Given the description of an element on the screen output the (x, y) to click on. 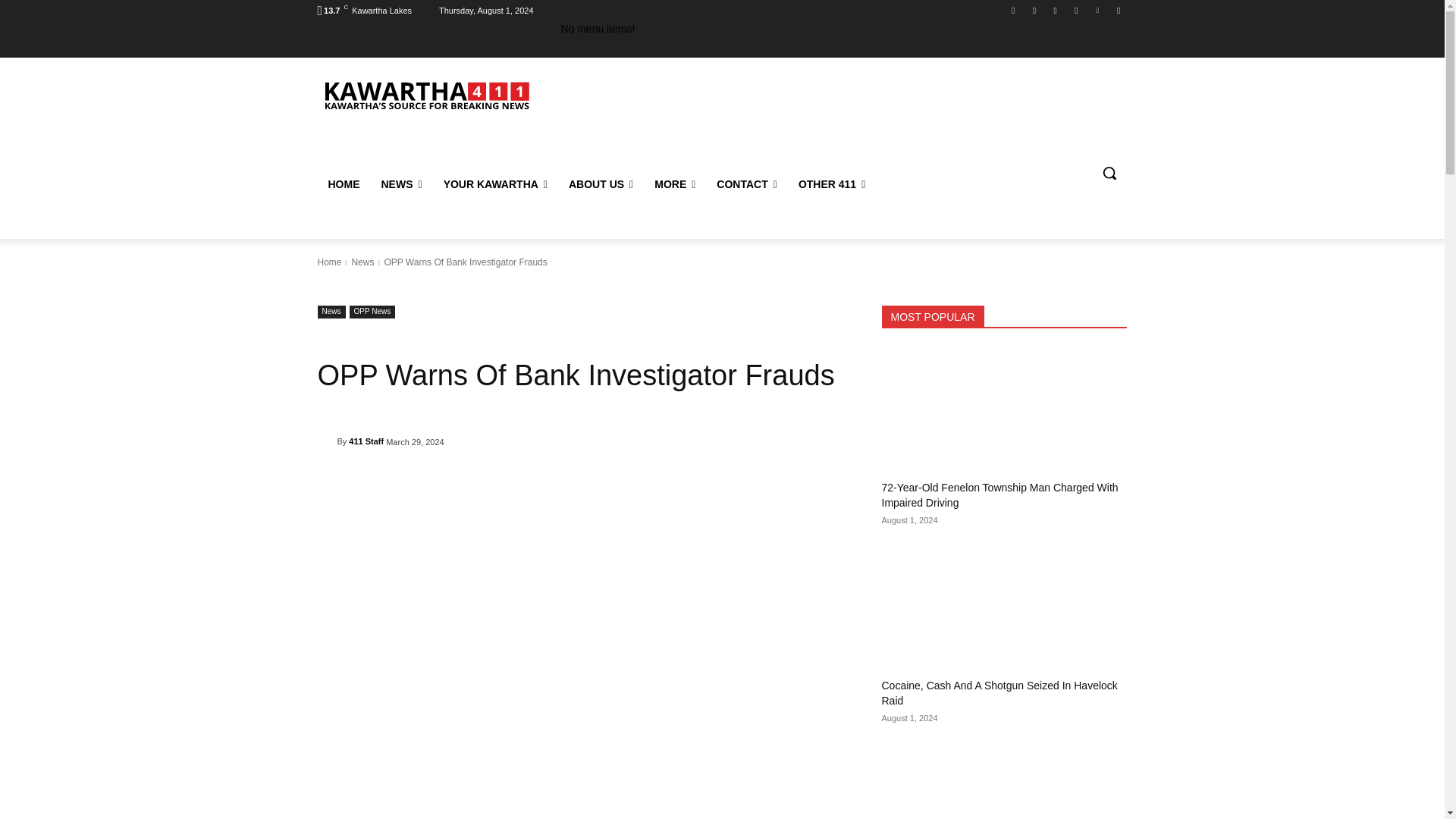
View all posts in News (362, 262)
Kawartha 411 News (425, 94)
Instagram (1034, 9)
Twitter (1097, 9)
Facebook (1013, 9)
Youtube (1117, 9)
Paypal (1055, 9)
Telegram (1075, 9)
